Given the description of an element on the screen output the (x, y) to click on. 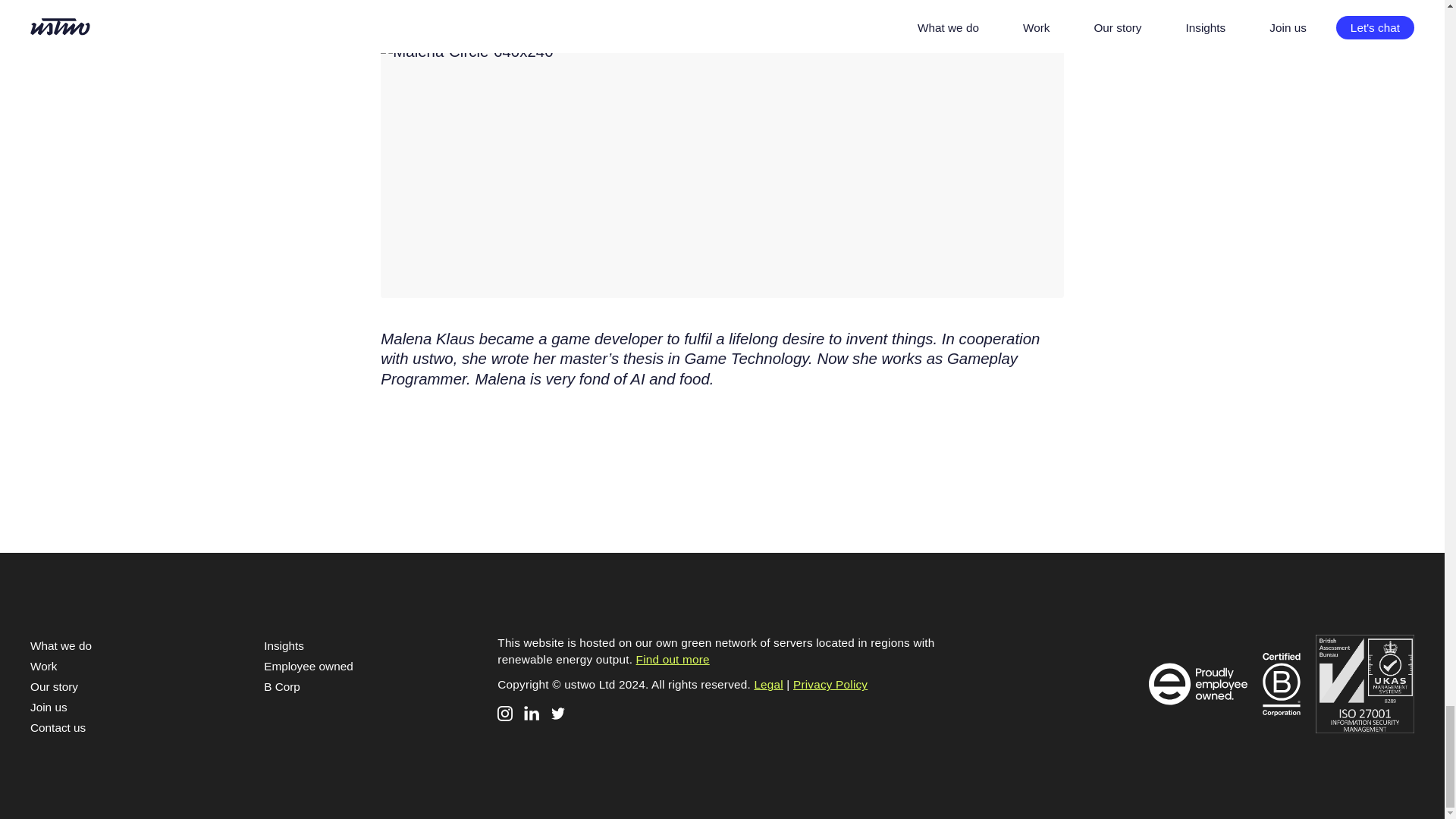
Legal (768, 684)
Instagram (504, 713)
Contact us (57, 727)
Insights (283, 645)
Our story (54, 686)
Work (43, 666)
Employee owned (308, 666)
Privacy Policy (830, 684)
Linked In (531, 713)
What we do (60, 645)
